Given the description of an element on the screen output the (x, y) to click on. 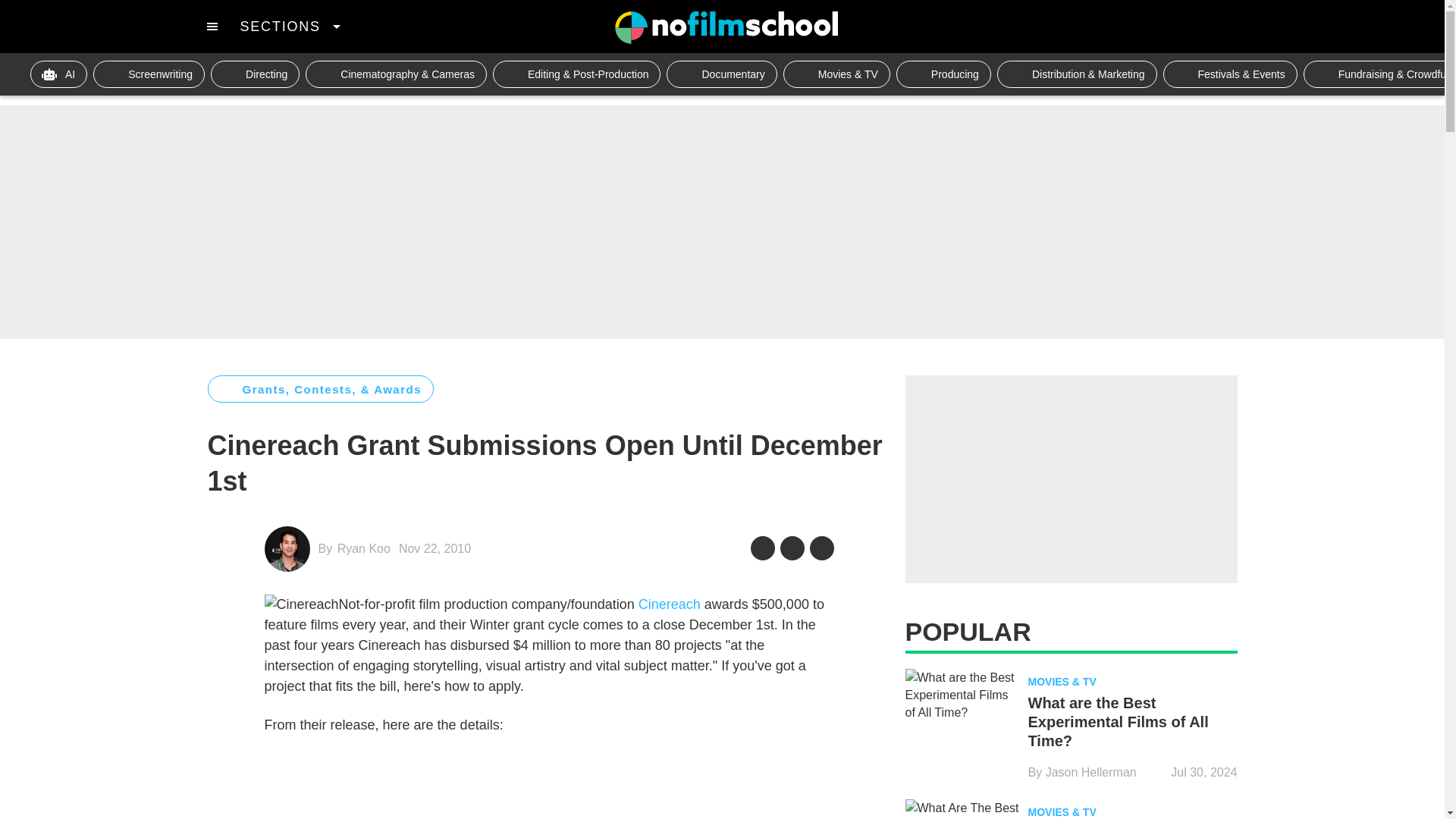
SECTIONS (289, 26)
NO FILM SCHOOL (725, 27)
Directing (255, 73)
Documentary (721, 73)
Producing (943, 73)
Screenwriting (149, 73)
NO FILM SCHOOL (725, 27)
AI (58, 73)
Ryan Koo (363, 548)
